Given the description of an element on the screen output the (x, y) to click on. 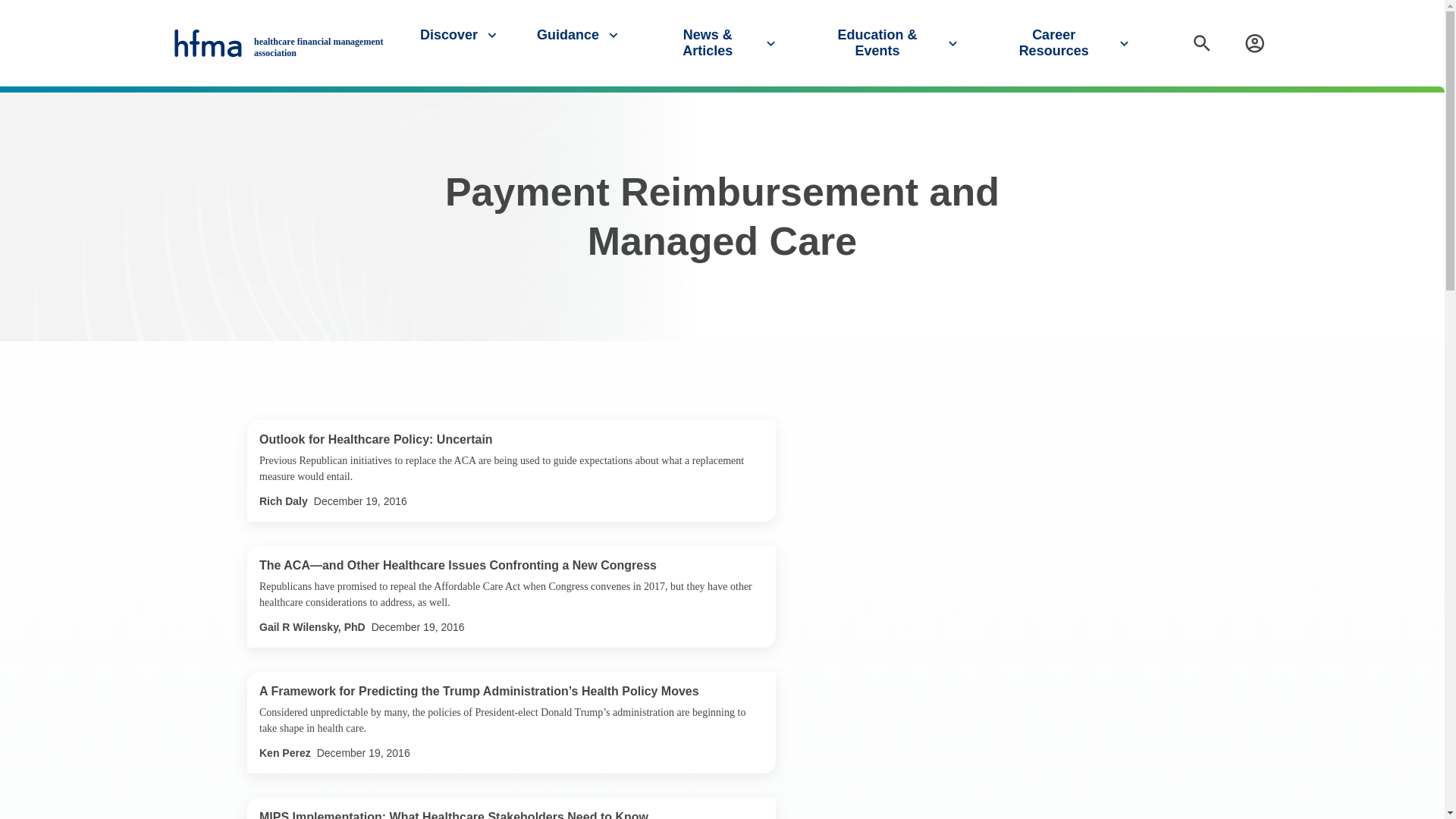
Submit (1427, 101)
Career Resources (1064, 42)
Discover (460, 35)
Guidance (579, 35)
